Given the description of an element on the screen output the (x, y) to click on. 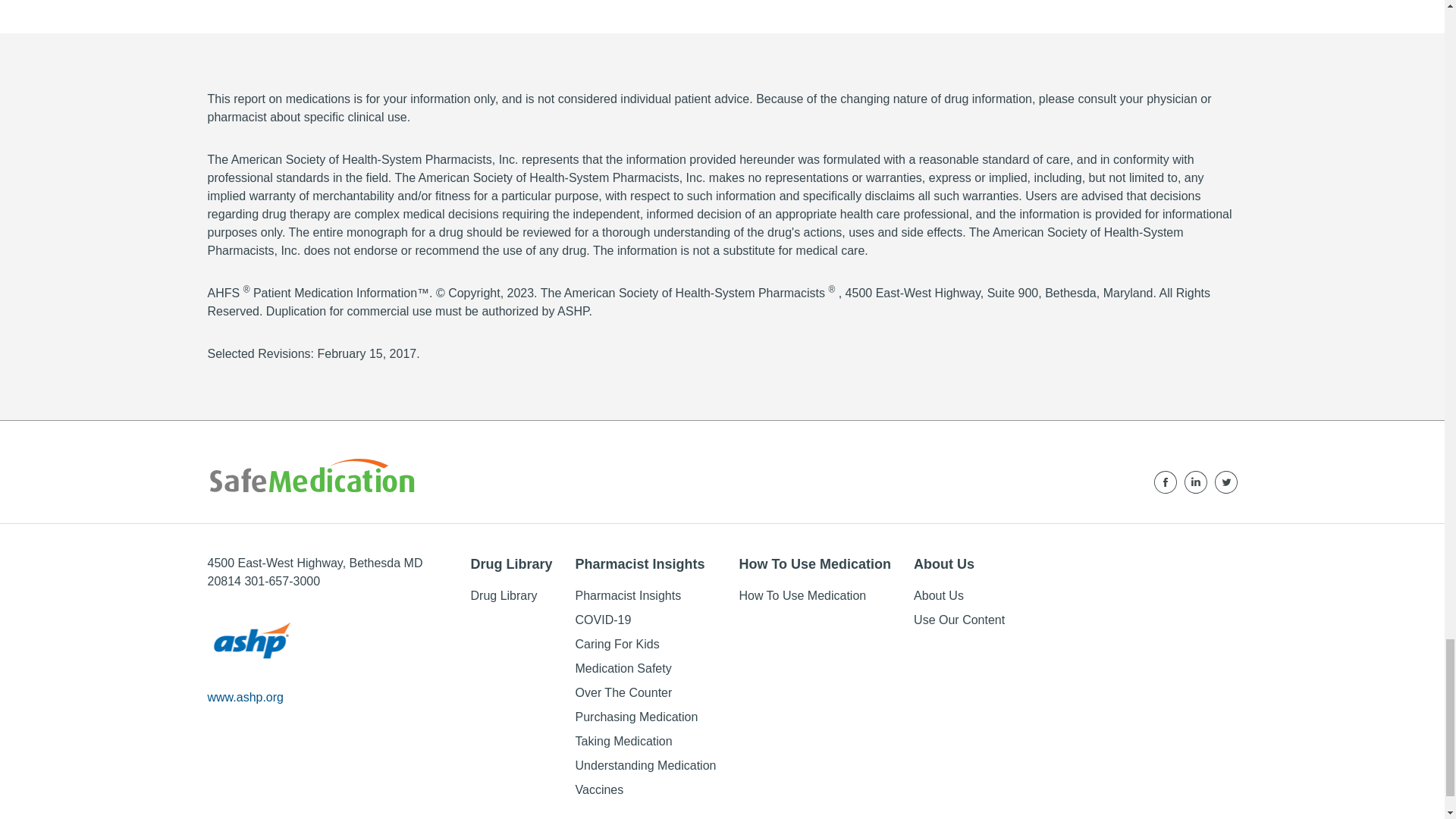
Drug Library (503, 594)
Drug Library (510, 564)
www.ashp.org (245, 697)
Pharmacist Insights (628, 594)
Pharmacist Insights (645, 564)
